Given the description of an element on the screen output the (x, y) to click on. 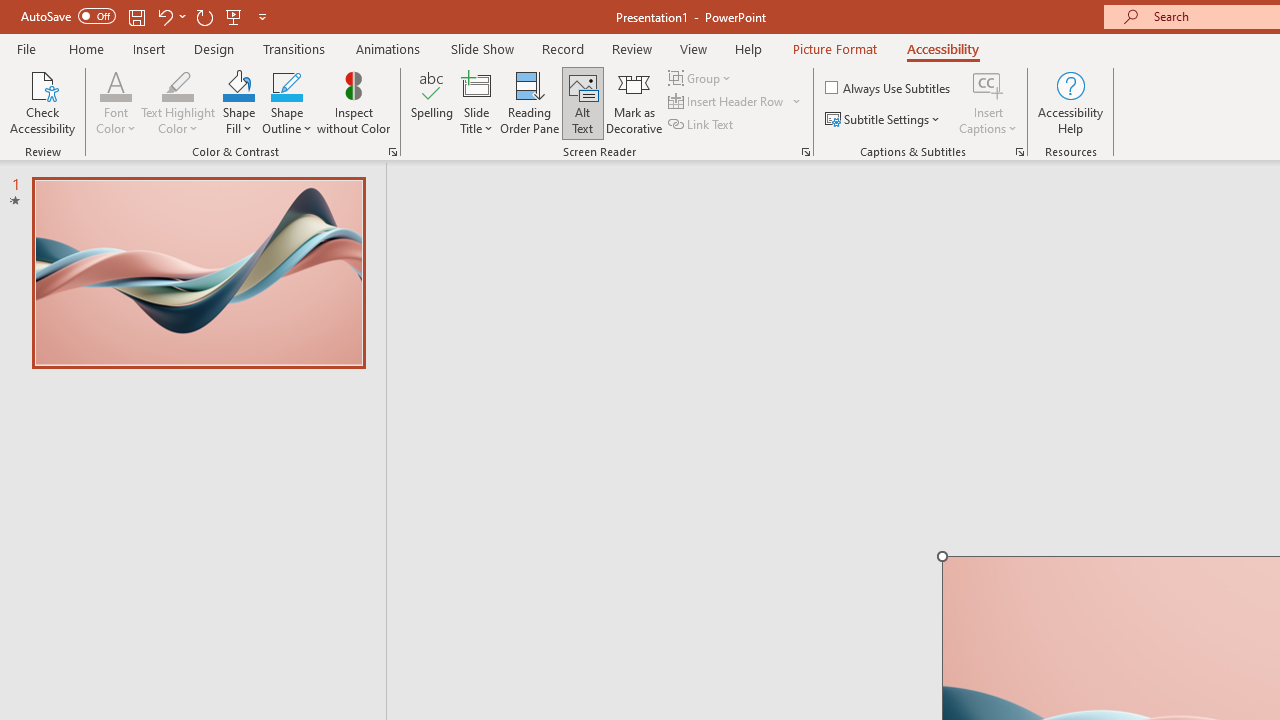
Reading Order Pane (529, 102)
Inspect without Color (353, 102)
Color & Contrast (392, 151)
